Given the description of an element on the screen output the (x, y) to click on. 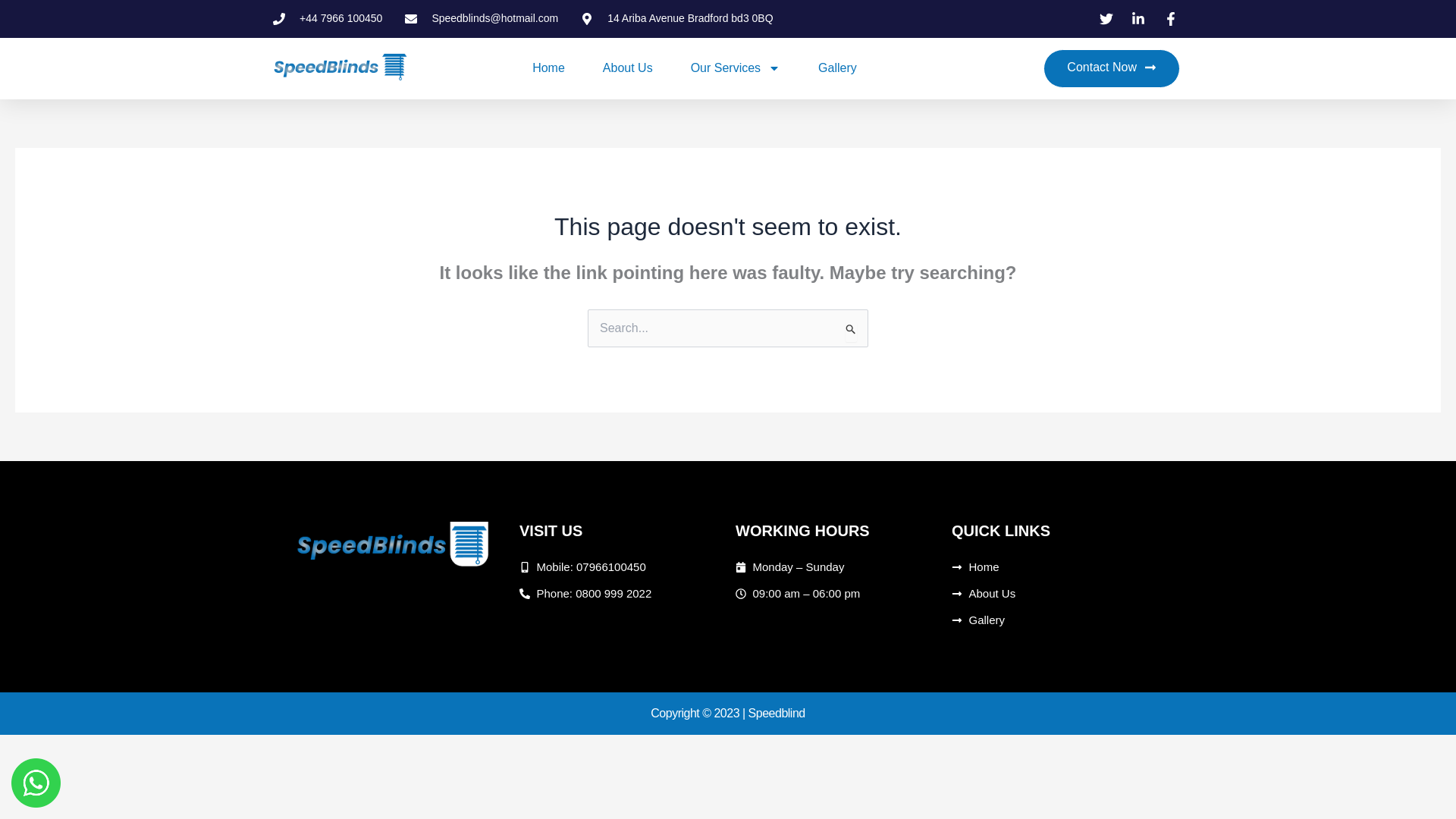
Our Services (735, 67)
Home (548, 67)
Gallery (837, 67)
About Us (627, 67)
Contact Now (1111, 68)
